Given the description of an element on the screen output the (x, y) to click on. 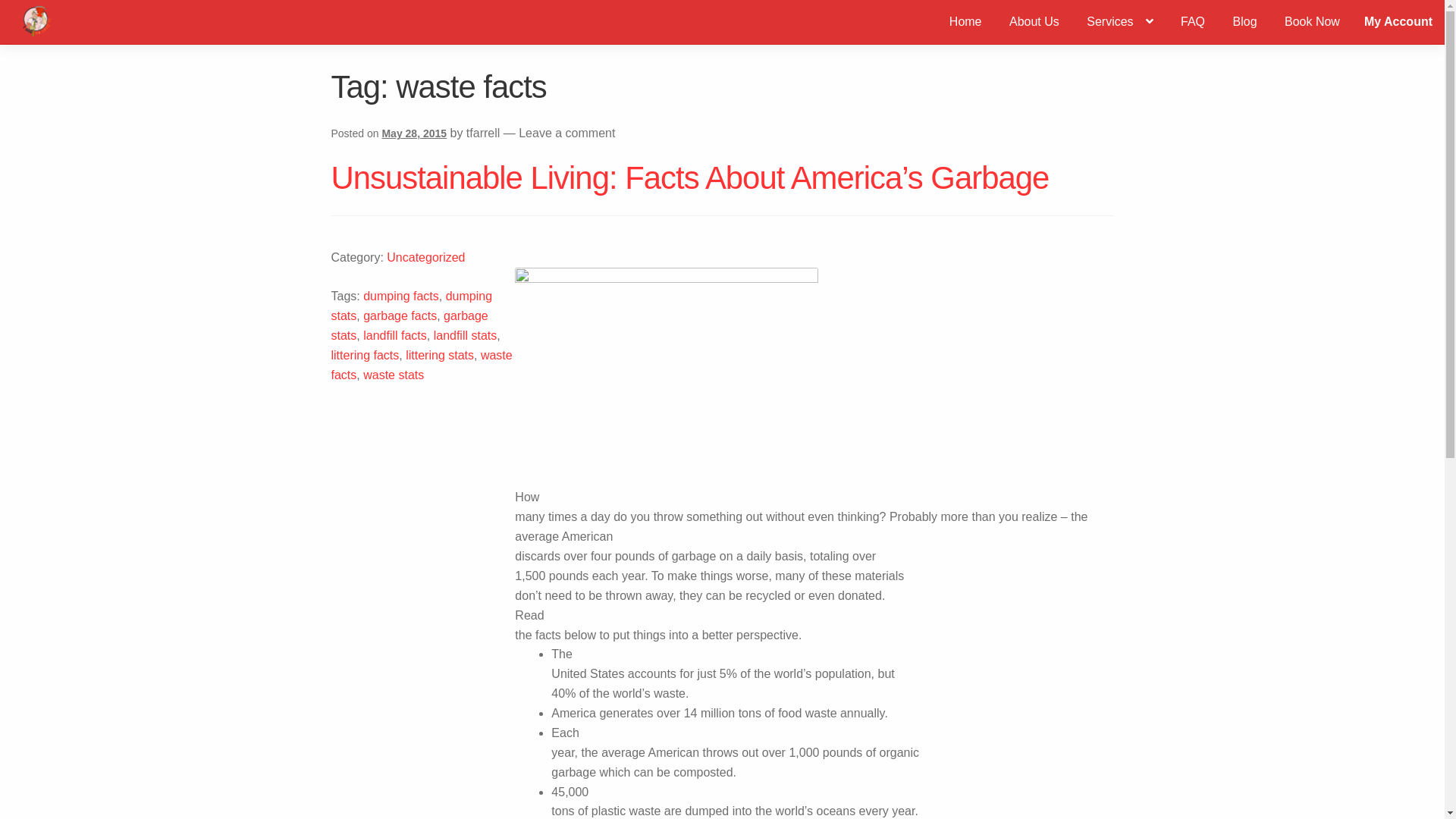
tfarrell Element type: text (482, 132)
littering stats Element type: text (439, 354)
waste stats Element type: text (393, 374)
dumping facts Element type: text (401, 295)
littering facts Element type: text (364, 354)
garbage facts Element type: text (399, 315)
Blog Element type: text (1244, 21)
Skip to content Element type: text (52, 9)
landfill facts Element type: text (394, 335)
waste facts Element type: text (420, 364)
Skip to navigation Element type: text (59, 9)
landfill stats Element type: text (465, 335)
dumping stats Element type: text (411, 305)
Uncategorized Element type: text (425, 257)
Home Element type: text (965, 21)
FAQ Element type: text (1192, 21)
Services Element type: text (1119, 21)
Book Now Element type: text (1312, 21)
May 28, 2015 Element type: text (413, 133)
garbage stats Element type: text (408, 325)
About Us Element type: text (1034, 21)
My Account Element type: text (1398, 21)
Leave a comment Element type: text (566, 132)
